Given the description of an element on the screen output the (x, y) to click on. 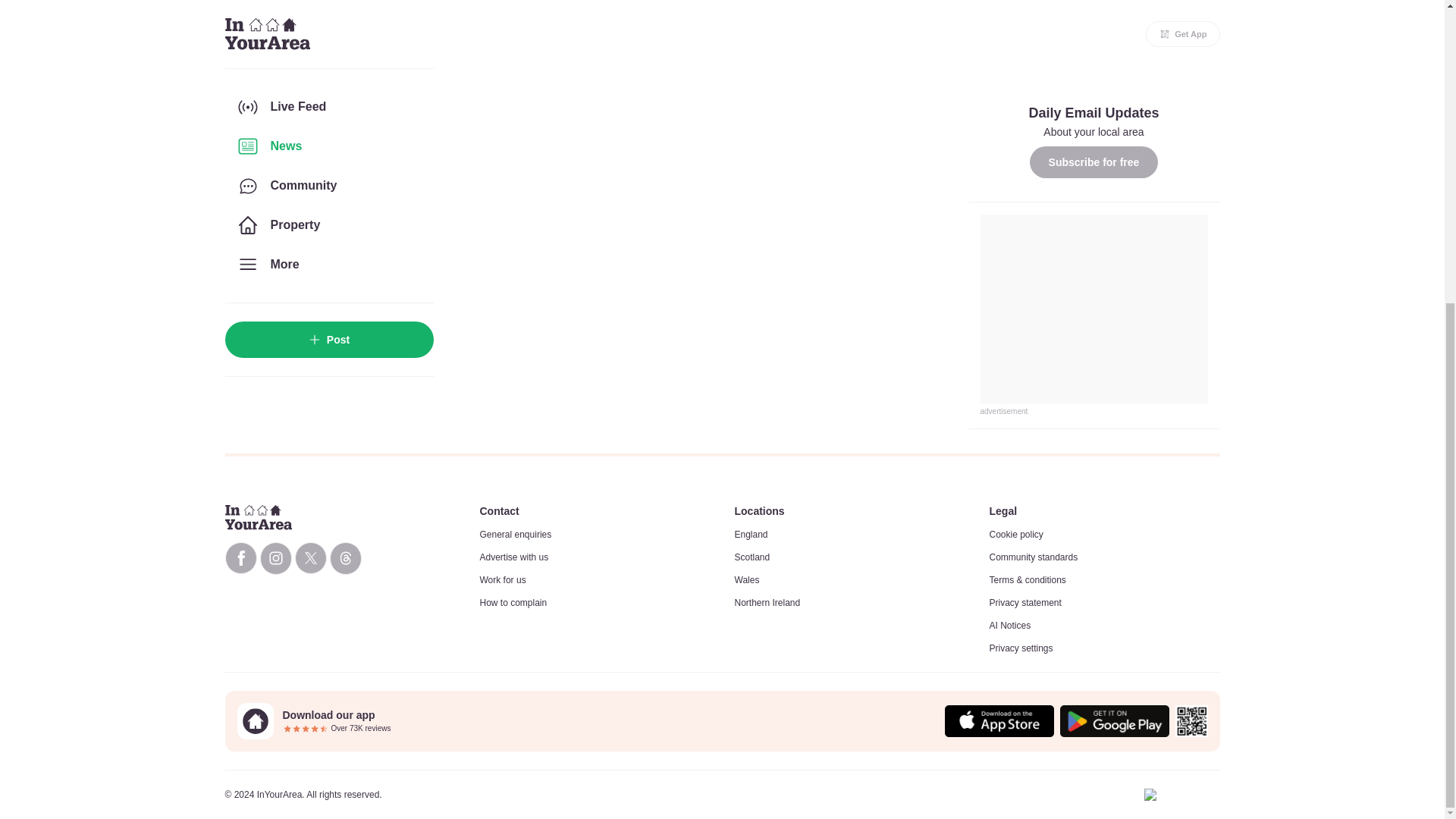
InYourArea X (310, 558)
InYourArea Threads (345, 558)
InYourArea Facebook (240, 558)
InYourArea Instagram (275, 558)
